Given the description of an element on the screen output the (x, y) to click on. 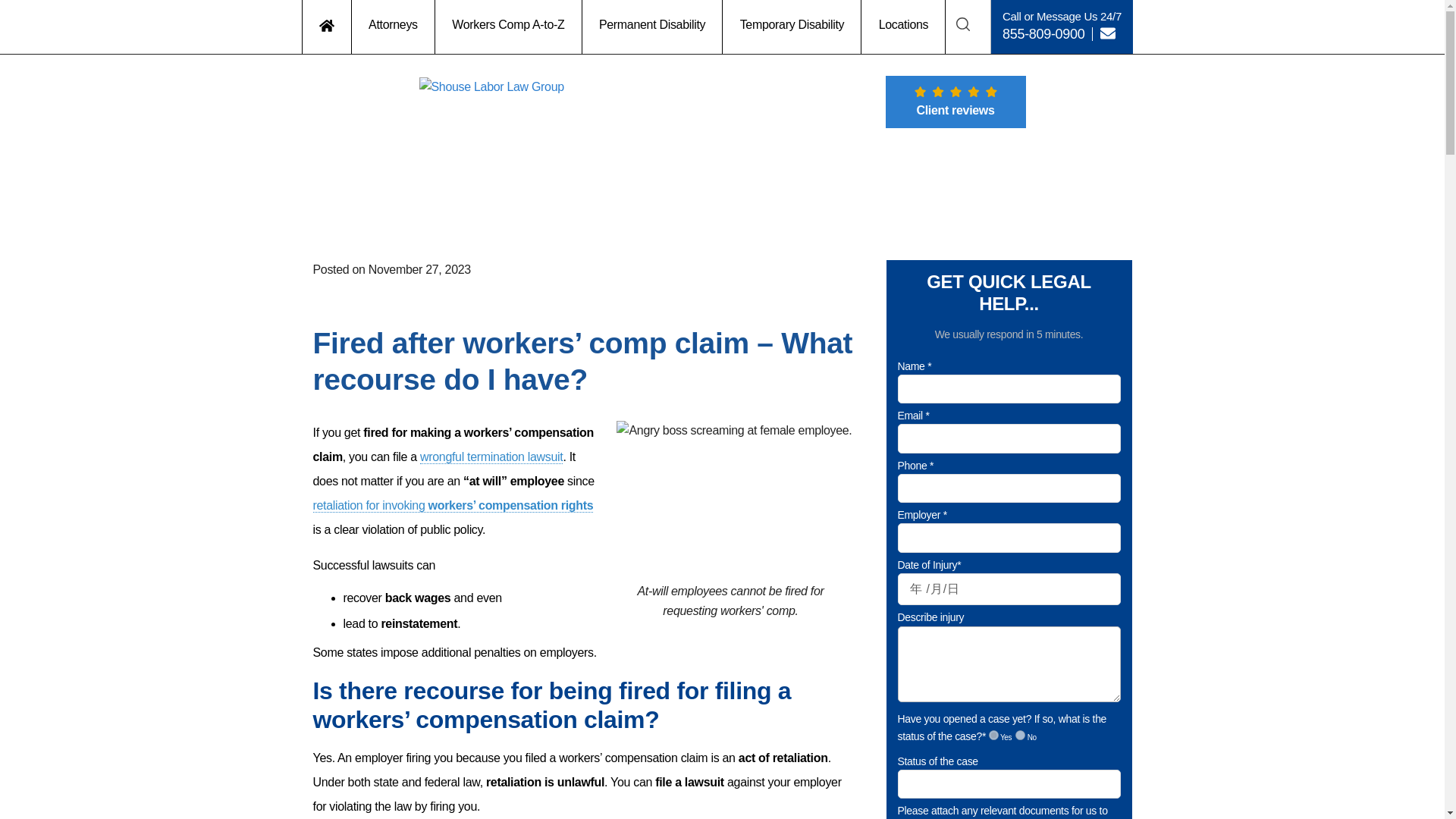
Locations (902, 27)
Temporary Disability (791, 27)
855-809-0900 (1043, 33)
No (1019, 735)
Attorneys (393, 27)
wrongful termination lawsuit (491, 457)
Workers Comp A-to-Z (508, 27)
Permanent Disability (652, 27)
Submit (716, 661)
